Given the description of an element on the screen output the (x, y) to click on. 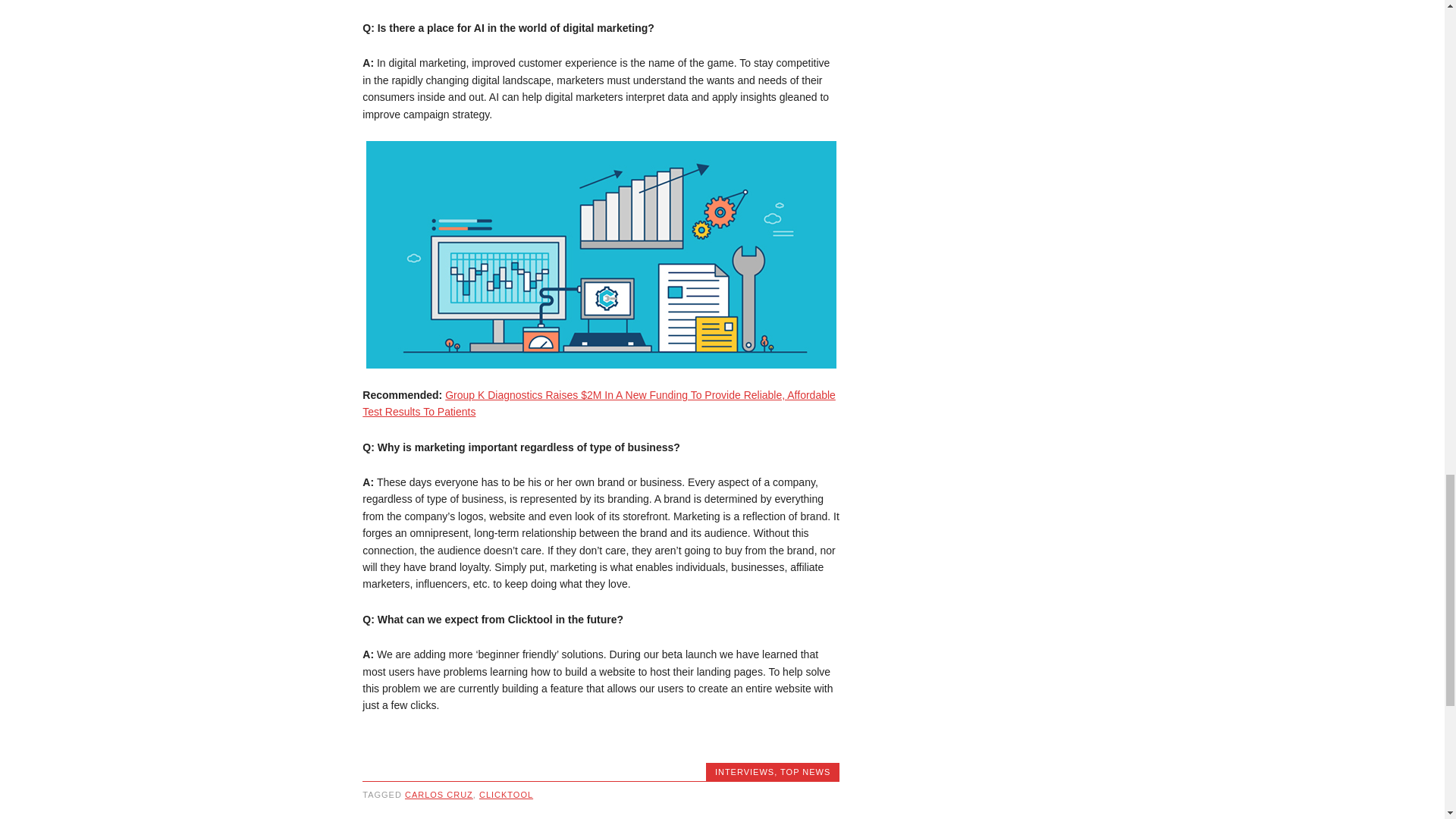
CARLOS CRUZ (438, 794)
TOP NEWS (804, 771)
CLICKTOOL (505, 794)
INTERVIEWS (744, 771)
